Given the description of an element on the screen output the (x, y) to click on. 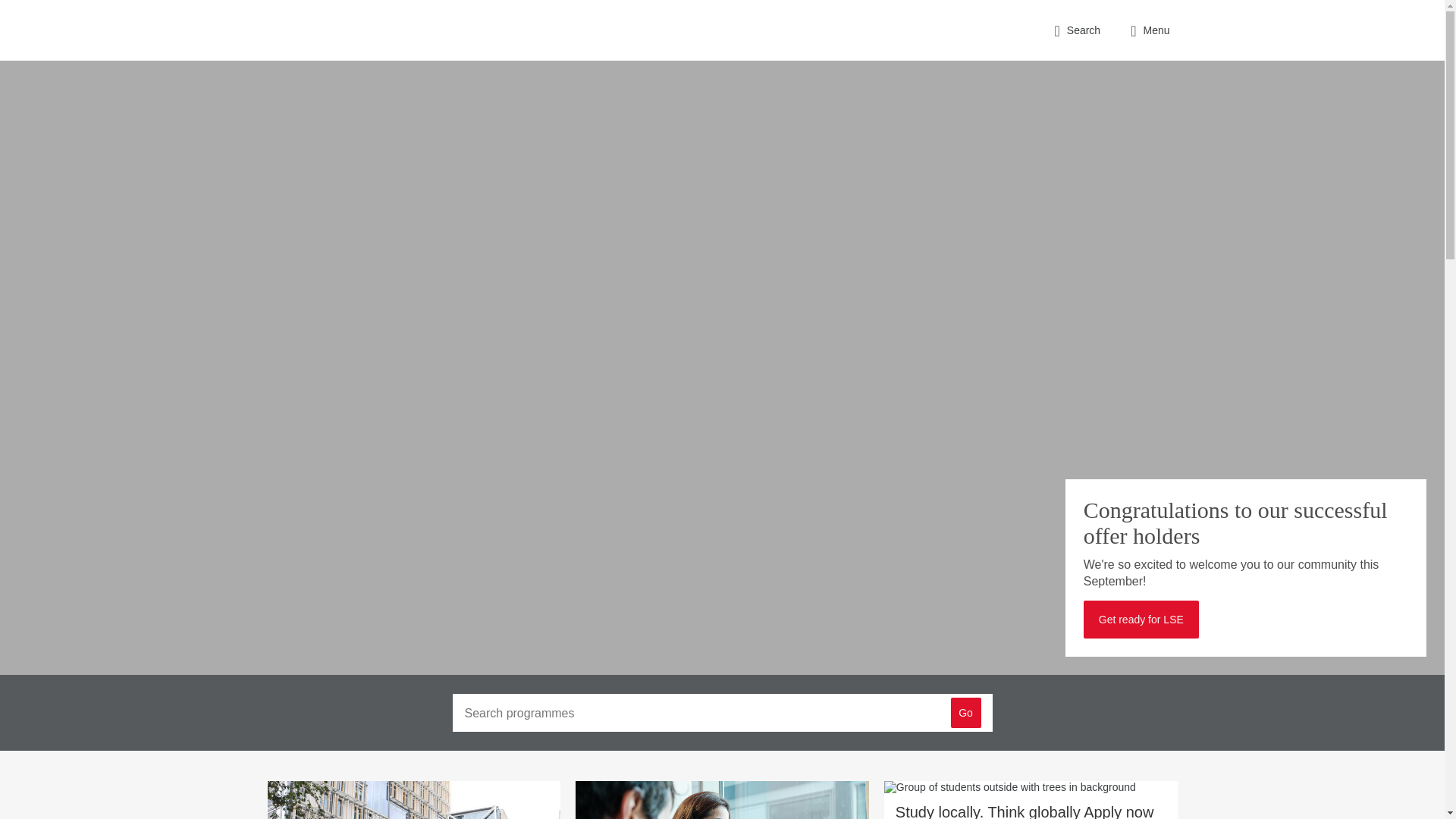
London School of Economics and Political Science (330, 30)
Menu (1150, 30)
Search (1077, 30)
